Given the description of an element on the screen output the (x, y) to click on. 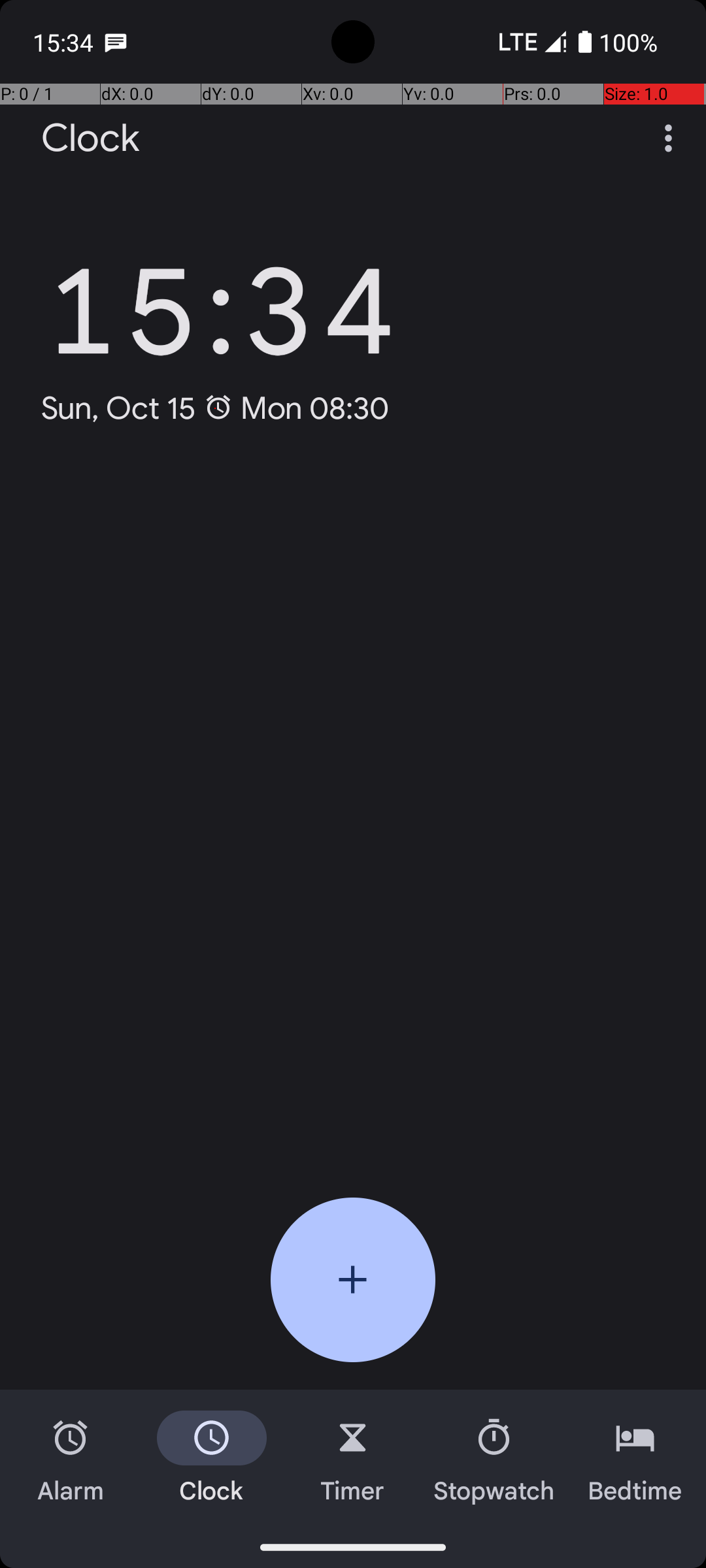
Add city Element type: android.widget.Button (352, 1279)
Sun, Oct 15 A Mon 08:30 Element type: android.widget.TextView (215, 407)
